Given the description of an element on the screen output the (x, y) to click on. 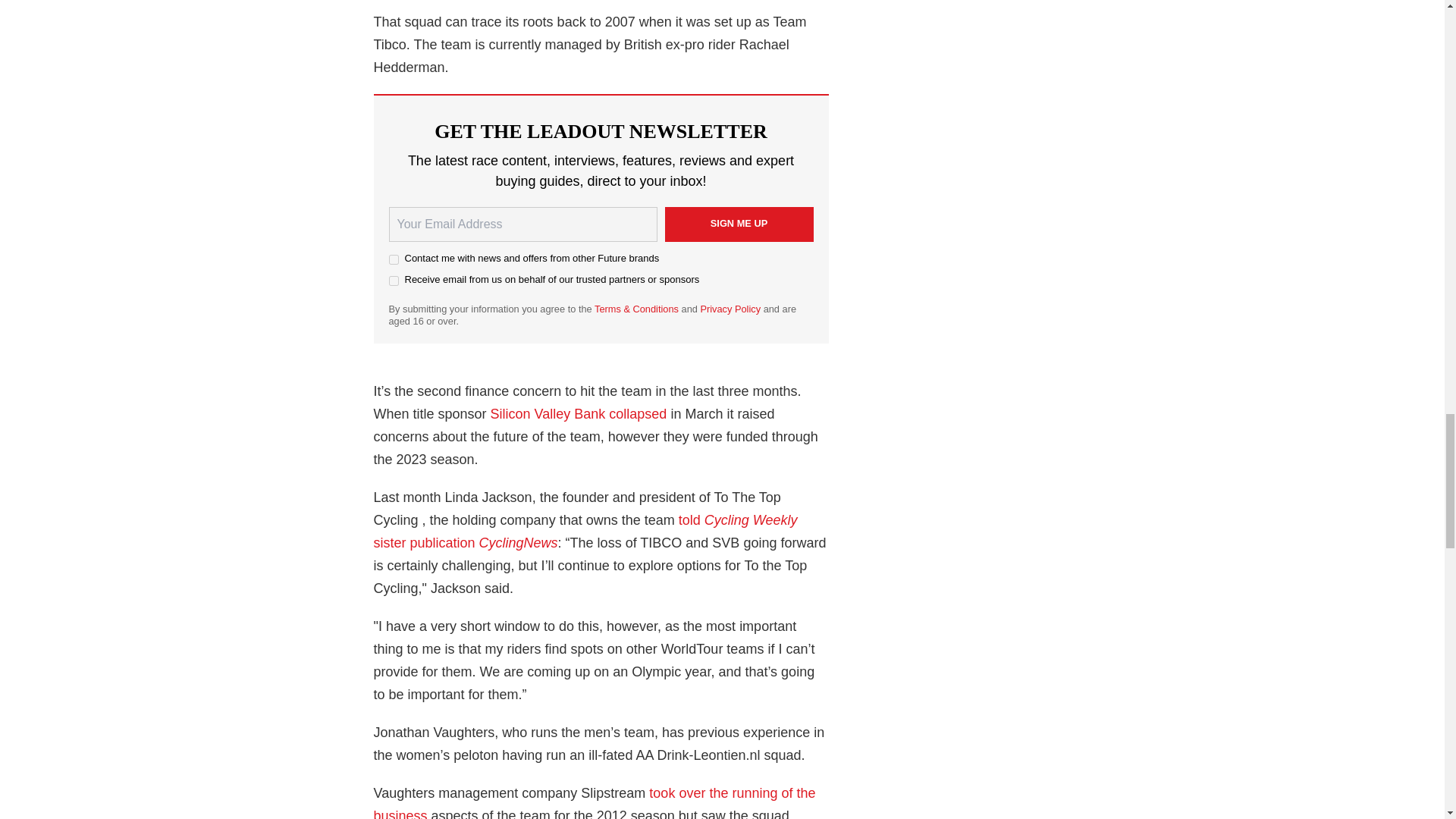
on (392, 280)
Sign me up (737, 224)
on (392, 259)
